Given the description of an element on the screen output the (x, y) to click on. 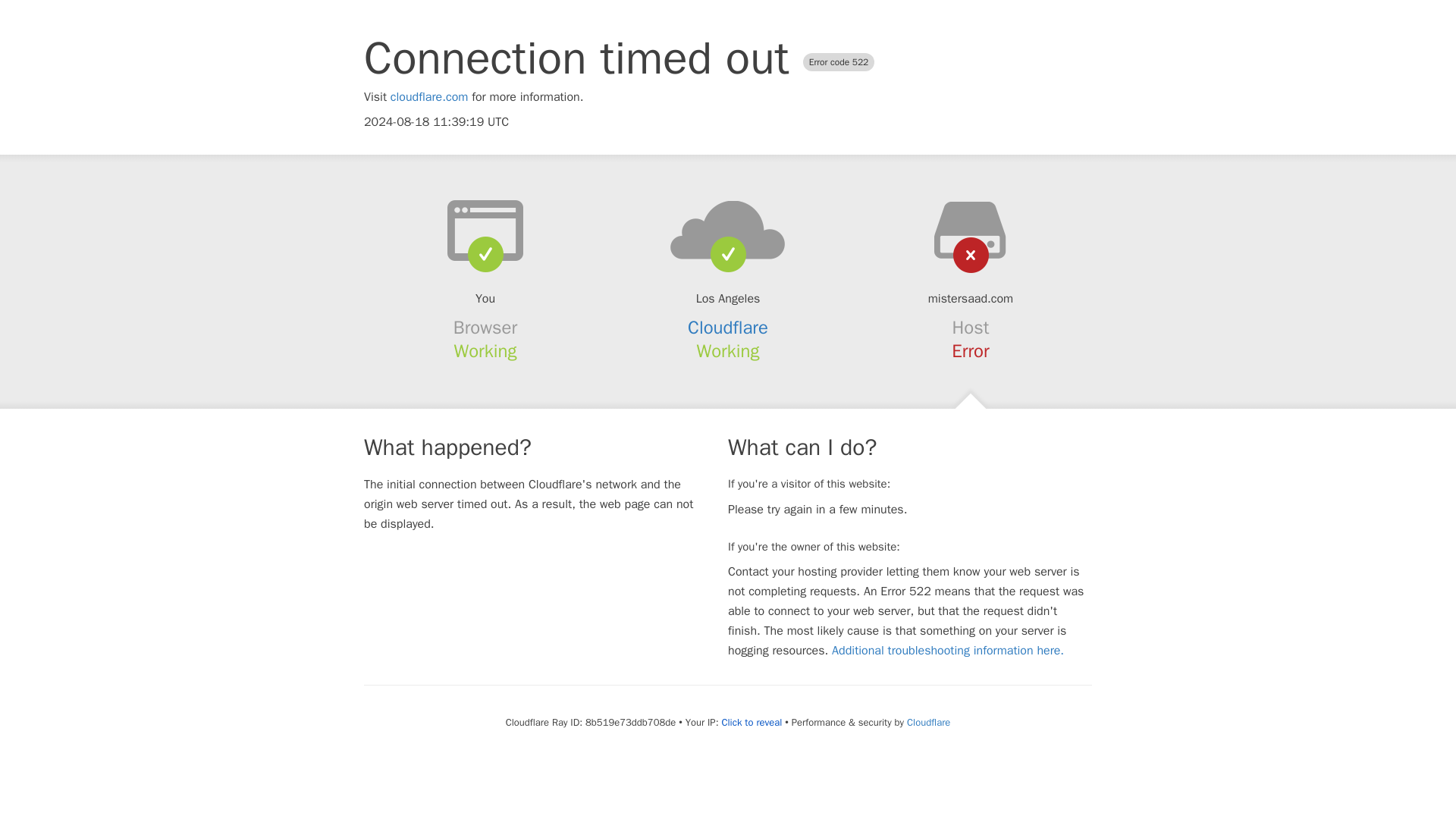
Cloudflare (727, 327)
cloudflare.com (429, 96)
Additional troubleshooting information here. (947, 650)
Click to reveal (750, 722)
Cloudflare (928, 721)
